Given the description of an element on the screen output the (x, y) to click on. 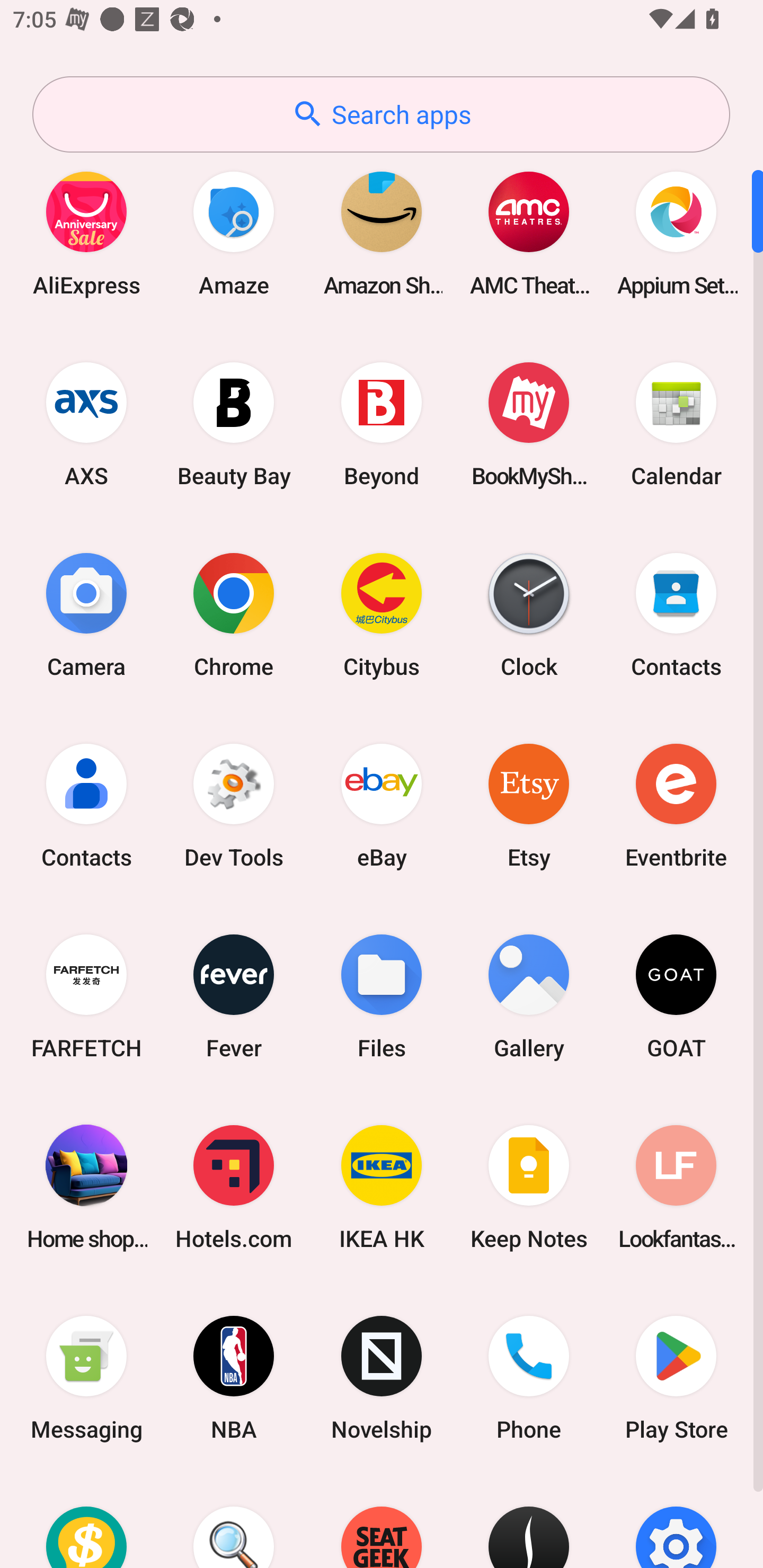
  Search apps (381, 114)
AliExpress (86, 233)
Amaze (233, 233)
Amazon Shopping (381, 233)
AMC Theatres (528, 233)
Appium Settings (676, 233)
AXS (86, 424)
Beauty Bay (233, 424)
Beyond (381, 424)
BookMyShow (528, 424)
Calendar (676, 424)
Camera (86, 614)
Chrome (233, 614)
Citybus (381, 614)
Clock (528, 614)
Contacts (676, 614)
Contacts (86, 805)
Dev Tools (233, 805)
eBay (381, 805)
Etsy (528, 805)
Eventbrite (676, 805)
FARFETCH (86, 996)
Fever (233, 996)
Files (381, 996)
Gallery (528, 996)
GOAT (676, 996)
Home shopping (86, 1186)
Hotels.com (233, 1186)
IKEA HK (381, 1186)
Keep Notes (528, 1186)
Lookfantastic (676, 1186)
Messaging (86, 1377)
NBA (233, 1377)
Novelship (381, 1377)
Phone (528, 1377)
Play Store (676, 1377)
